Given the description of an element on the screen output the (x, y) to click on. 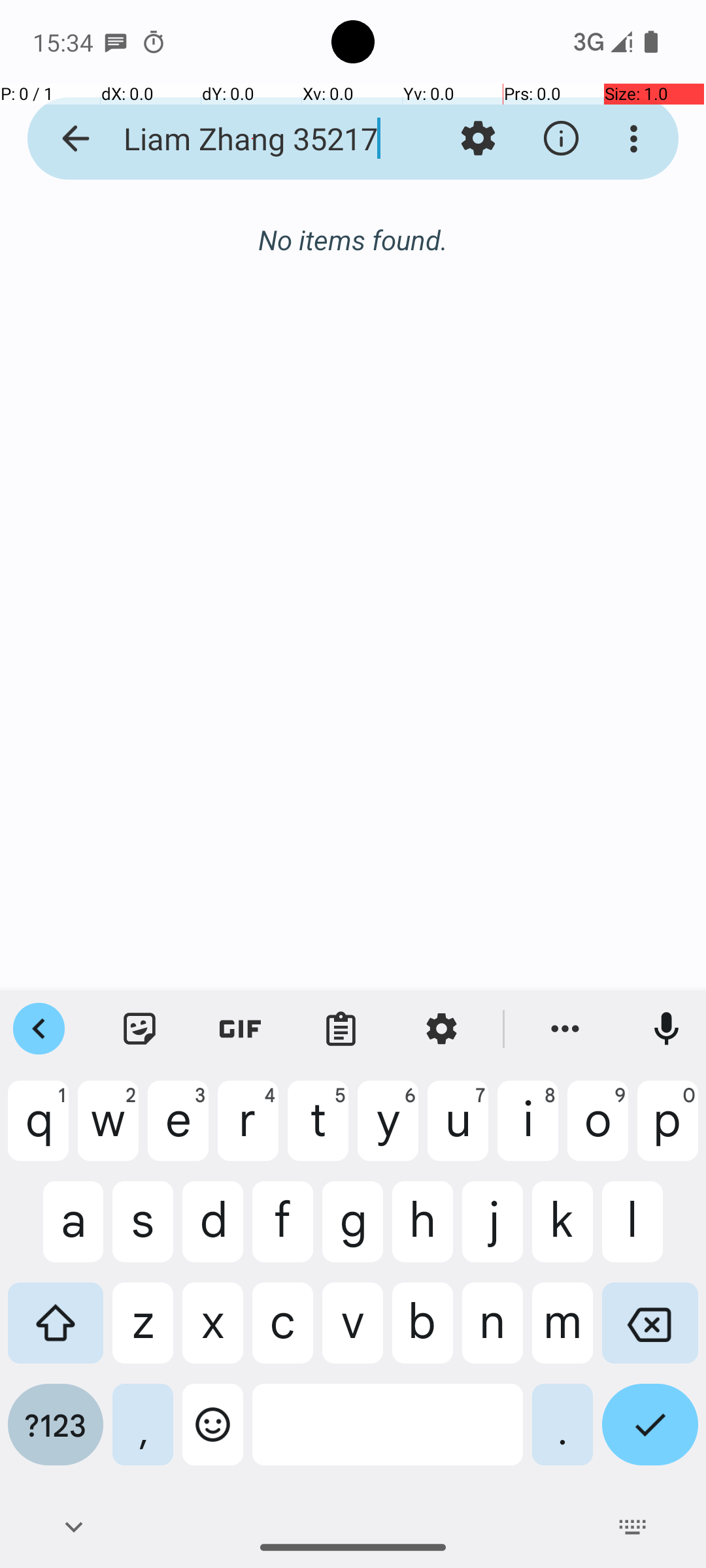
Liam Zhang 35217 Element type: android.widget.EditText (252, 138)
Liam Zhang Element type: android.widget.TextView (408, 242)
6 Elm St, Birmingham, AL, 35217 Element type: android.widget.TextView (408, 281)
SMS Messenger notification: Liam Zhang Element type: android.widget.ImageView (115, 41)
